Given the description of an element on the screen output the (x, y) to click on. 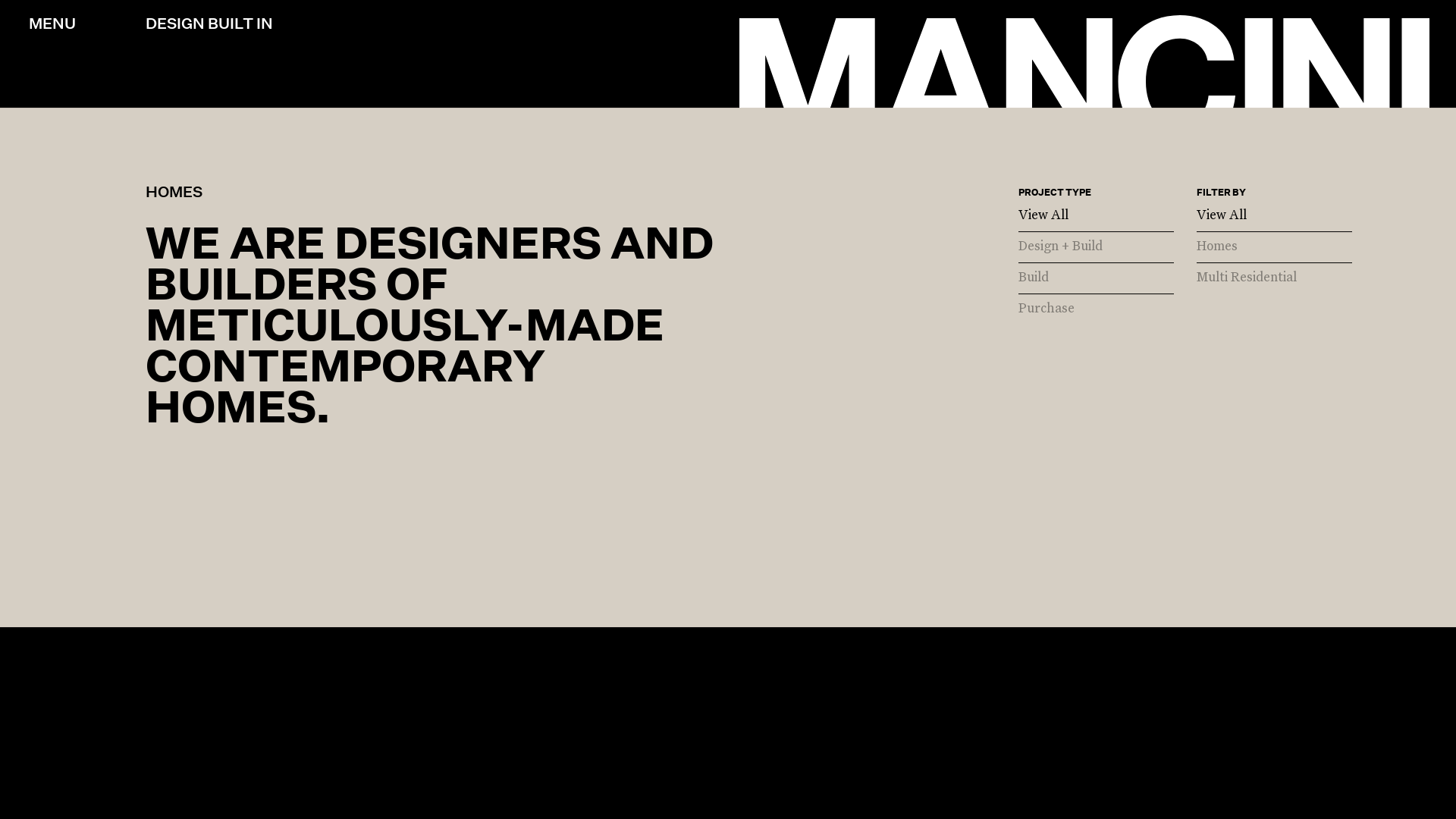
MENU Element type: text (51, 23)
LOAD MORE Element type: text (786, 517)
CONTACT Element type: text (242, 386)
PRIVACY Element type: text (60, 386)
FOLLOW Element type: text (545, 386)
